Given the description of an element on the screen output the (x, y) to click on. 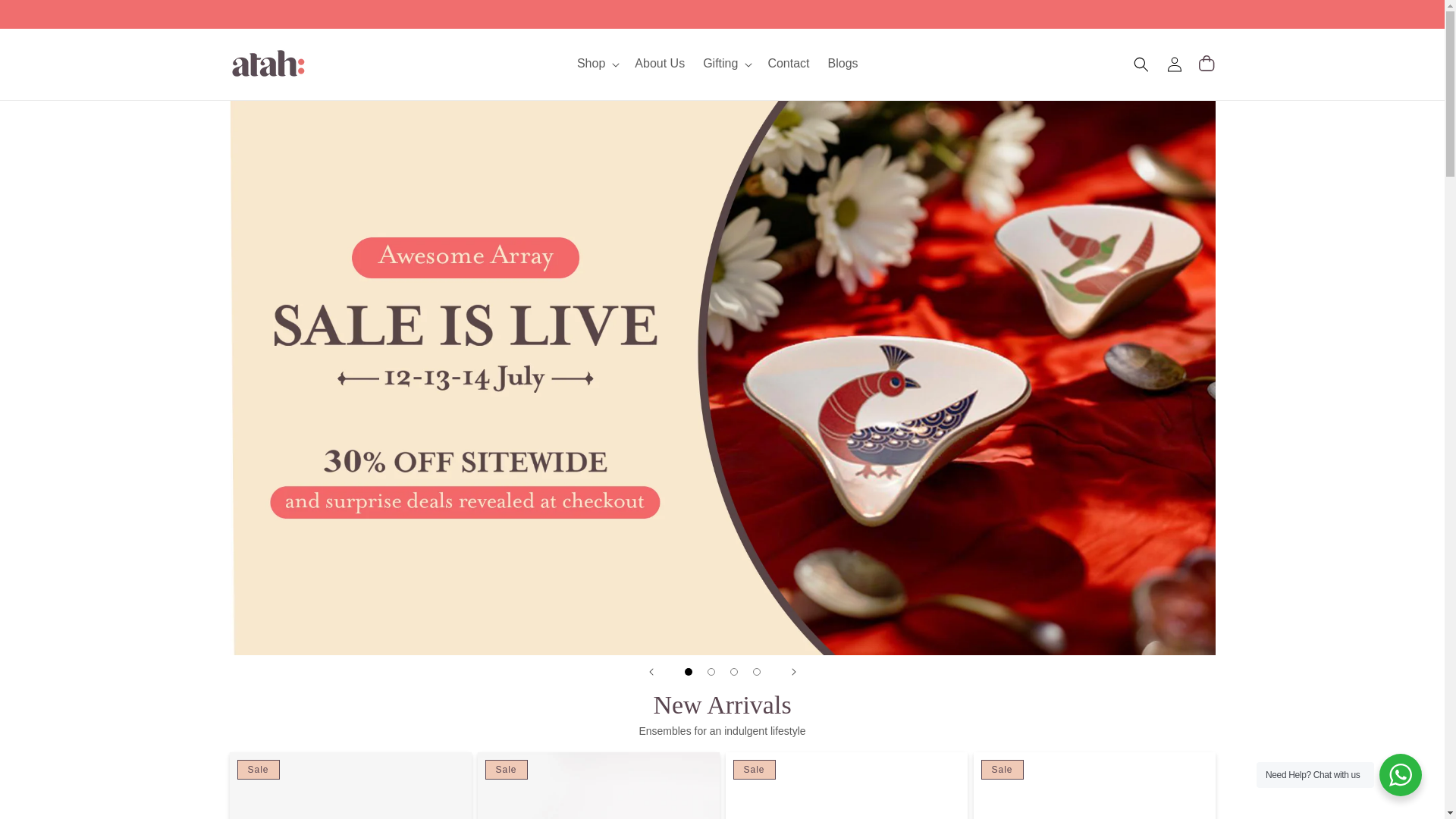
SKIP TO CONTENT (45, 17)
